Given the description of an element on the screen output the (x, y) to click on. 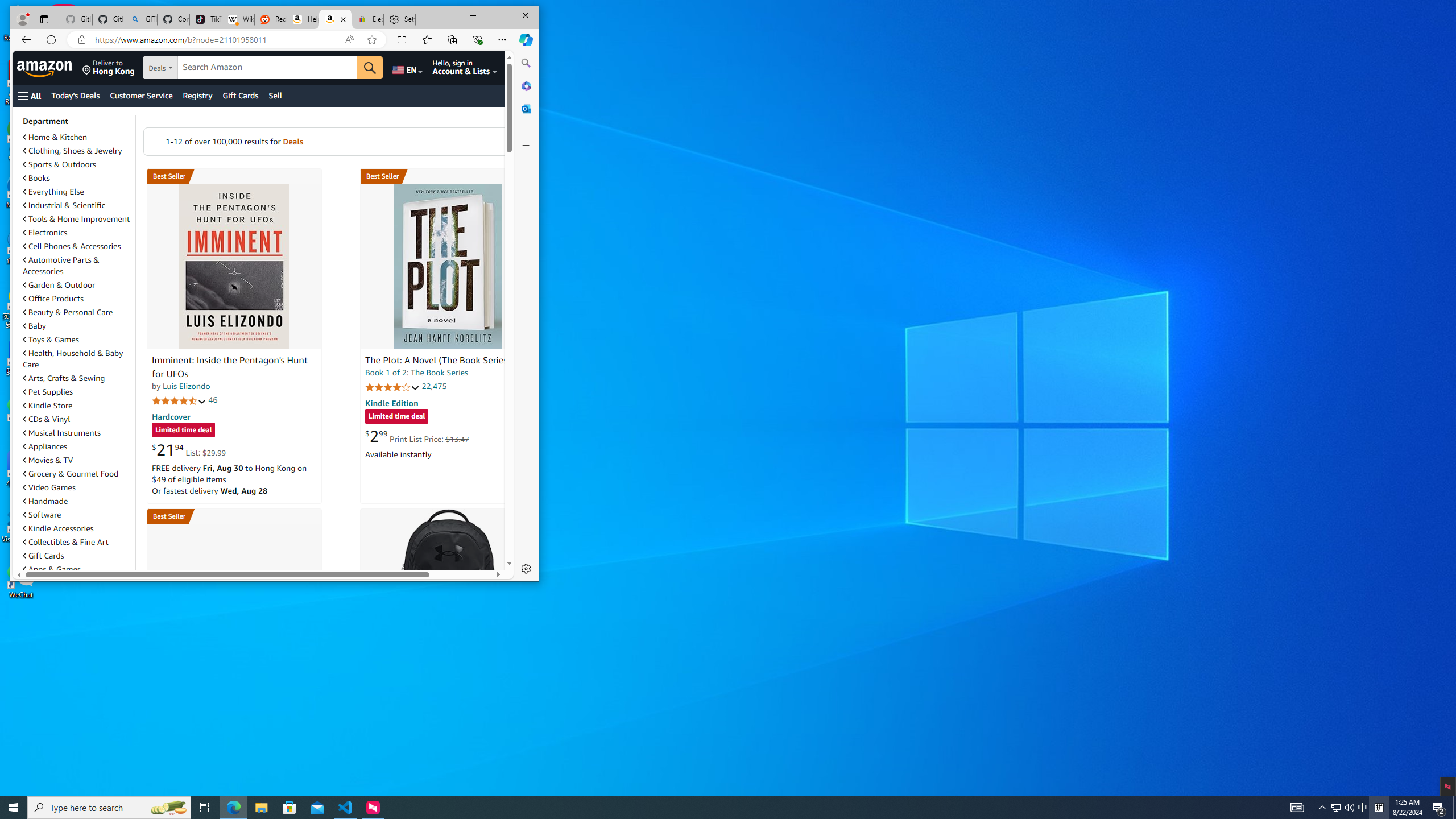
Everything Else (77, 191)
Office Products (77, 298)
Cell Phones & Accessories (77, 246)
Collectibles & Fine Art (77, 541)
GITHUB - Search (140, 19)
User Promoted Notification Area (1342, 807)
Pet Supplies (47, 391)
Open Menu (29, 95)
The Plot: A Novel (The Book Series 1) (441, 360)
Search Amazon (267, 67)
Running applications (707, 807)
